Given the description of an element on the screen output the (x, y) to click on. 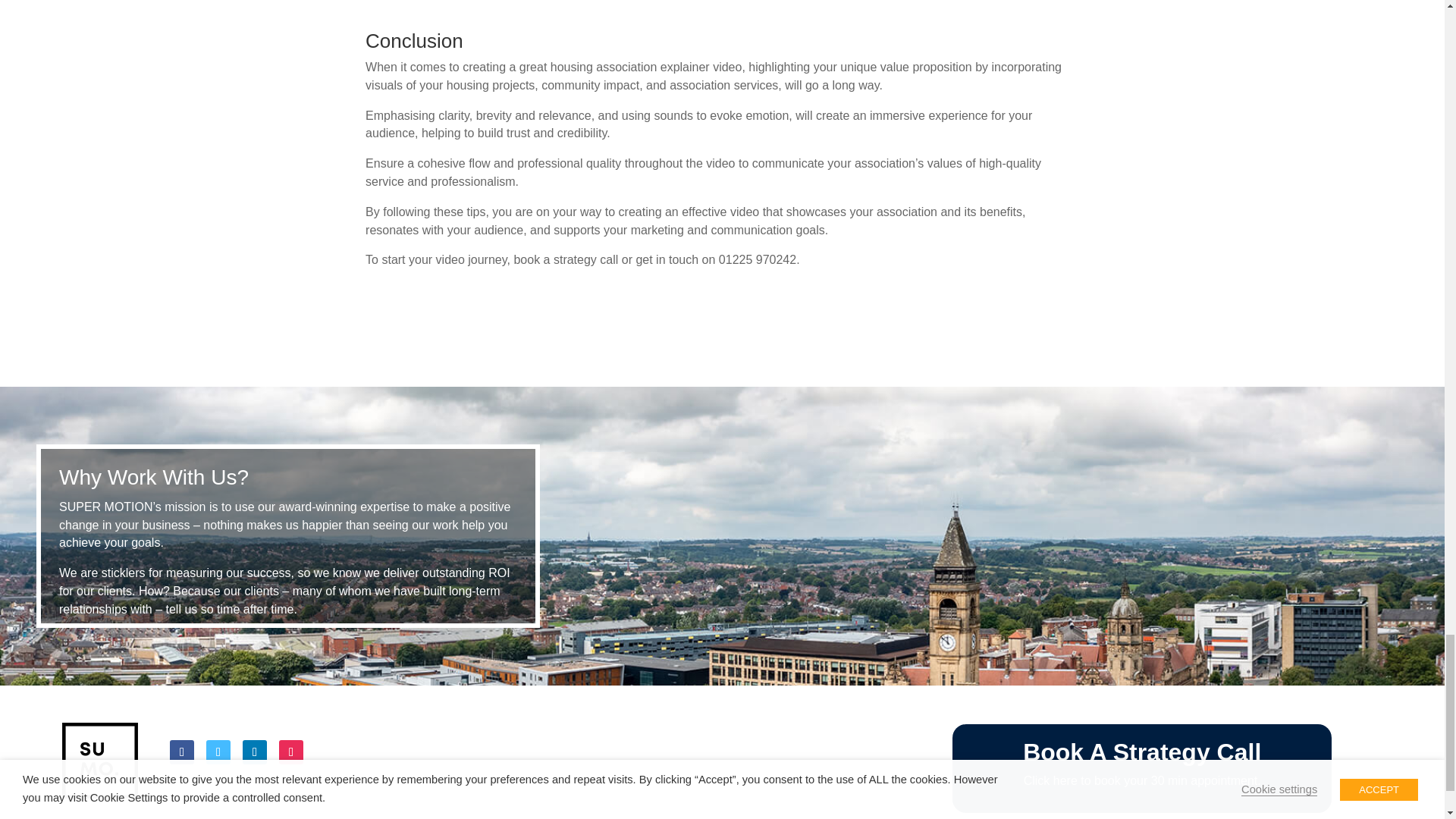
Follow on LinkedIn (254, 752)
Follow on Instagram (290, 752)
Follow on Vimeo (218, 752)
1 (100, 760)
Follow on Facebook (181, 752)
